Given the description of an element on the screen output the (x, y) to click on. 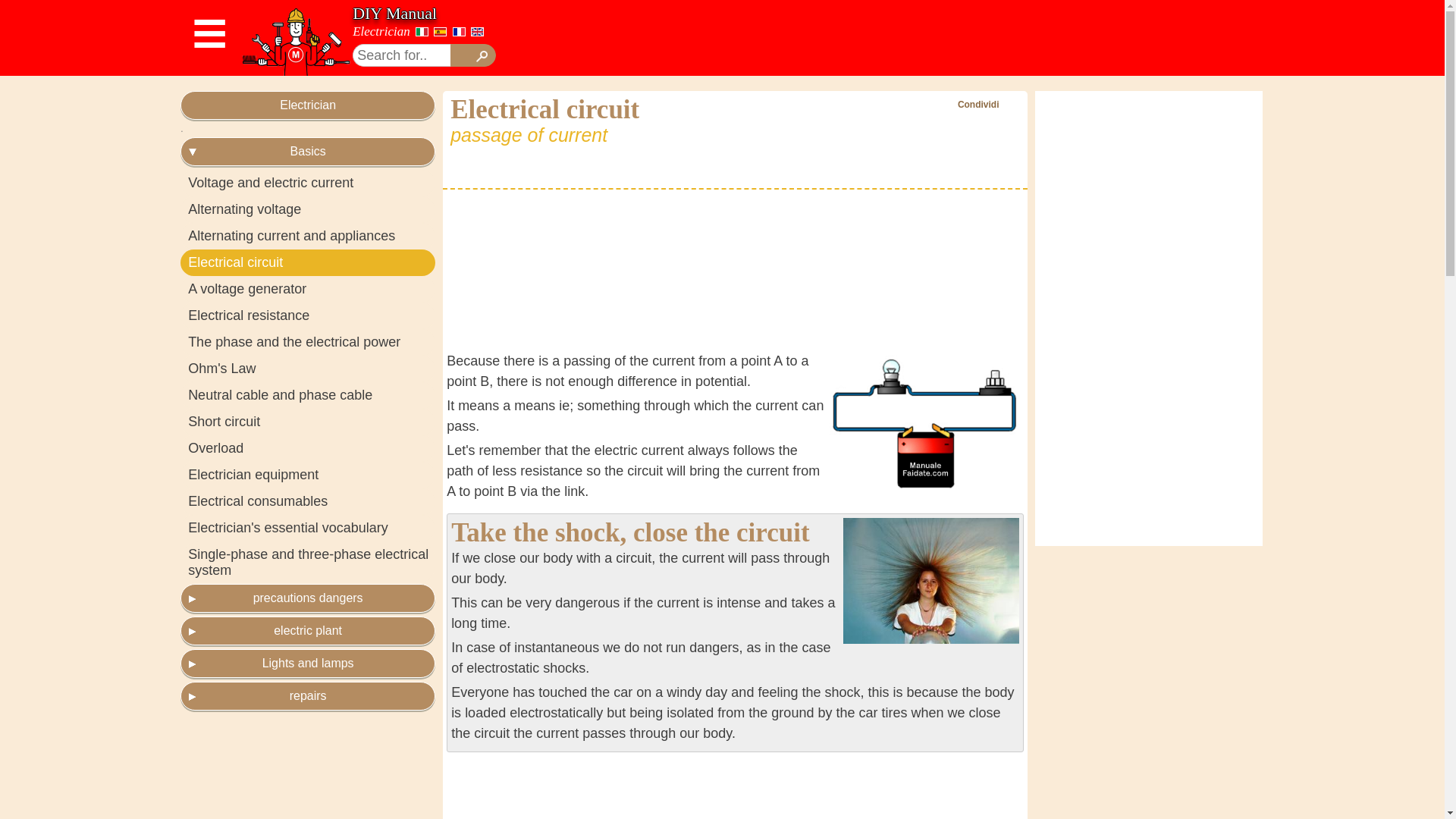
Electrician (381, 31)
Basics (307, 151)
DIY Manual (394, 13)
Electrician (307, 104)
